Given the description of an element on the screen output the (x, y) to click on. 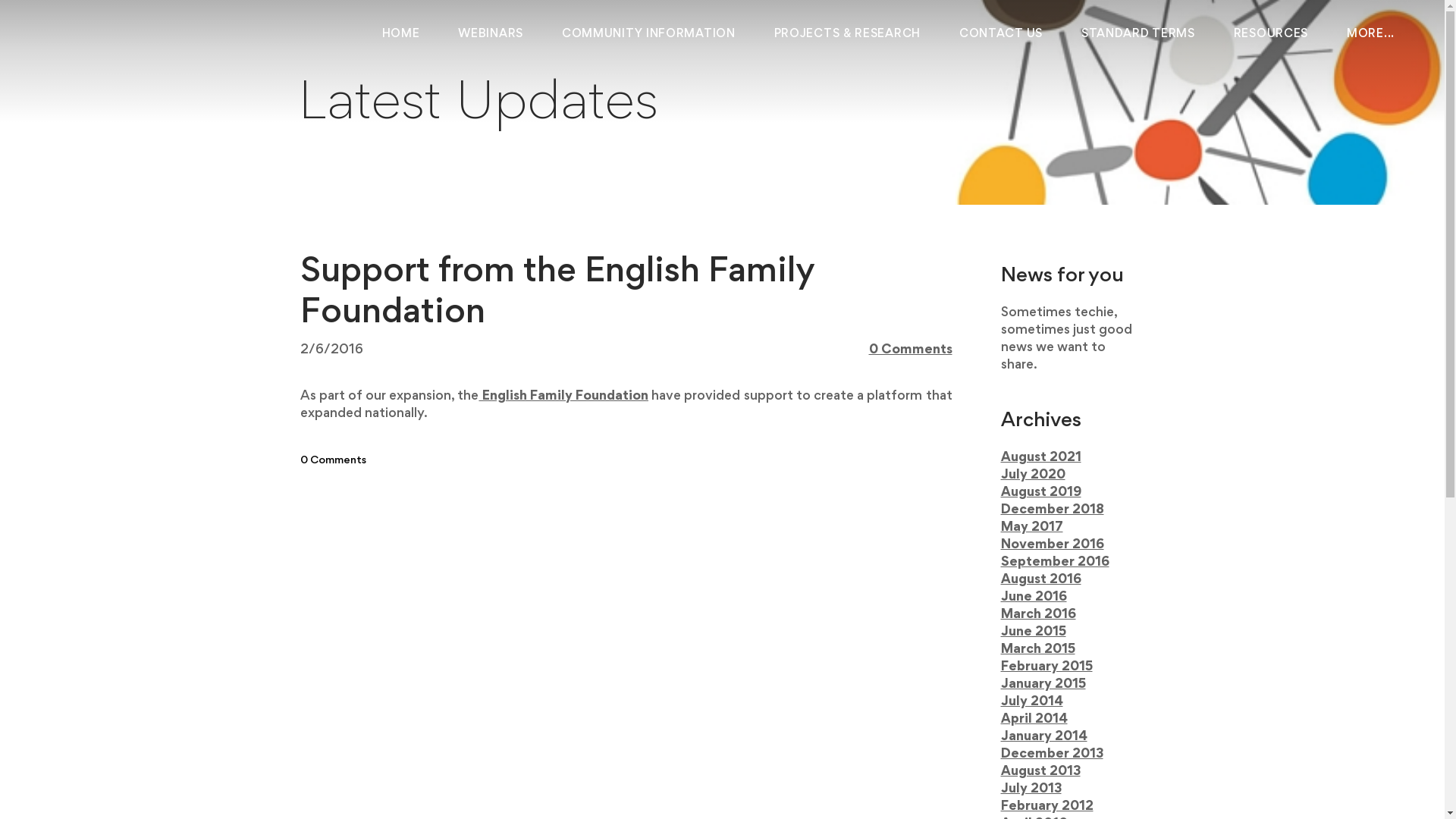
August 2019 Element type: text (1041, 492)
0 Comments Element type: text (333, 460)
April 2014 Element type: text (1034, 719)
May 2017 Element type: text (1032, 527)
March 2015 Element type: text (1038, 649)
WEBINARS Element type: text (490, 33)
PROJECTS & RESEARCH Element type: text (847, 33)
March 2016 Element type: text (1038, 614)
Support from the English Family Foundation Element type: text (557, 293)
January 2014 Element type: text (1044, 737)
November 2016 Element type: text (1052, 545)
June 2016 Element type: text (1033, 597)
February 2012 Element type: text (1047, 806)
June 2015 Element type: text (1033, 632)
HOME Element type: text (401, 33)
MORE... Element type: text (1370, 33)
CONTACT US Element type: text (1000, 33)
September 2016 Element type: text (1055, 562)
July 2020 Element type: text (1033, 475)
August 2013 Element type: text (1040, 771)
February 2015 Element type: text (1046, 667)
0 Comments Element type: text (910, 350)
STANDARD TERMS Element type: text (1138, 33)
July 2013 Element type: text (1031, 789)
July 2014 Element type: text (1032, 702)
COMMUNITY INFORMATION Element type: text (648, 33)
August 2021 Element type: text (1041, 457)
August 2016 Element type: text (1041, 580)
December 2013 Element type: text (1052, 754)
December 2018 Element type: text (1052, 510)
January 2015 Element type: text (1043, 684)
 English Family Foundation Element type: text (563, 396)
RESOURCES Element type: text (1270, 33)
